Given the description of an element on the screen output the (x, y) to click on. 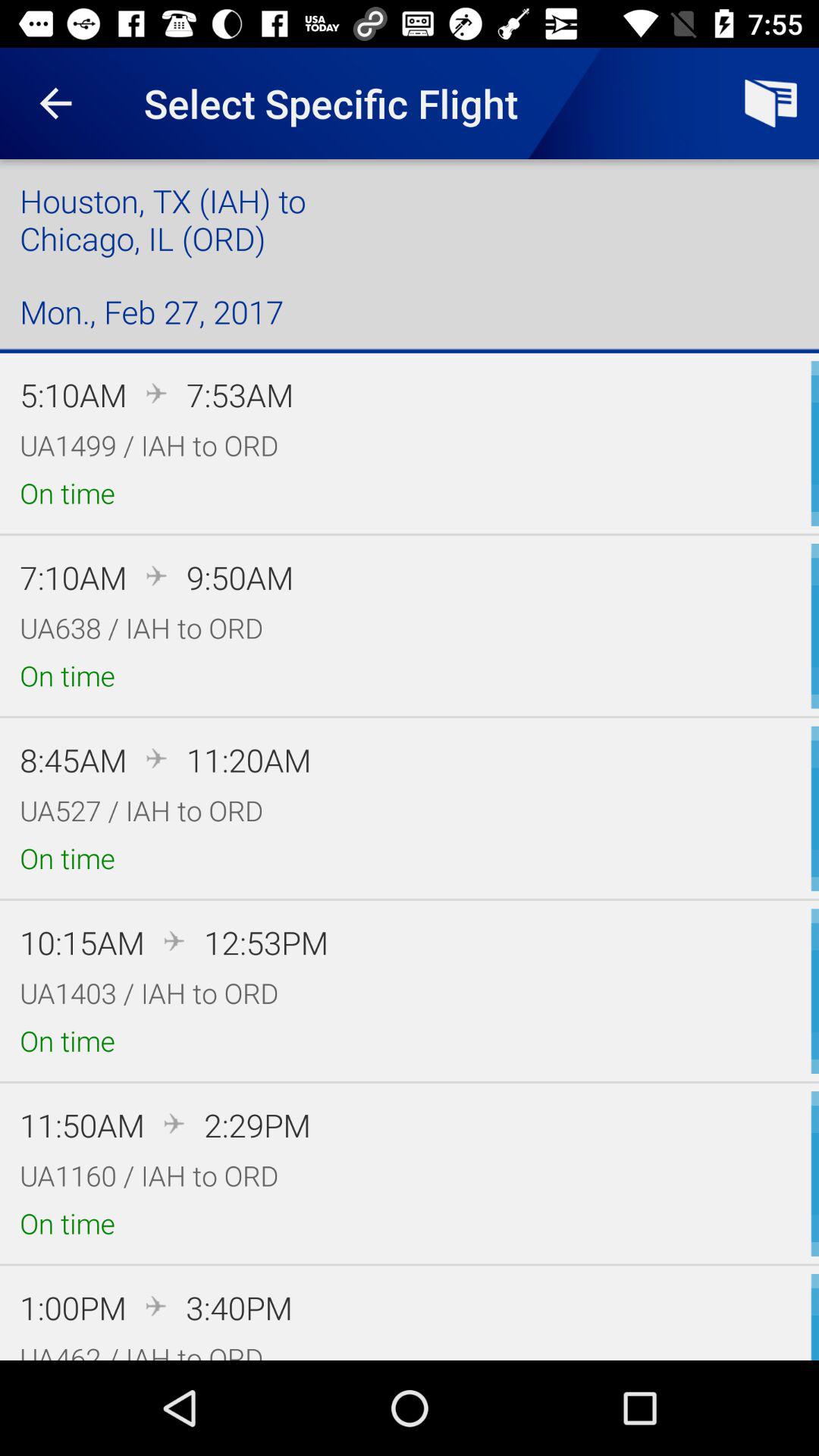
select the flight symbol in third flight timings (157, 758)
select the plane icon on left to the text 950 am on the web page (157, 576)
